Given the description of an element on the screen output the (x, y) to click on. 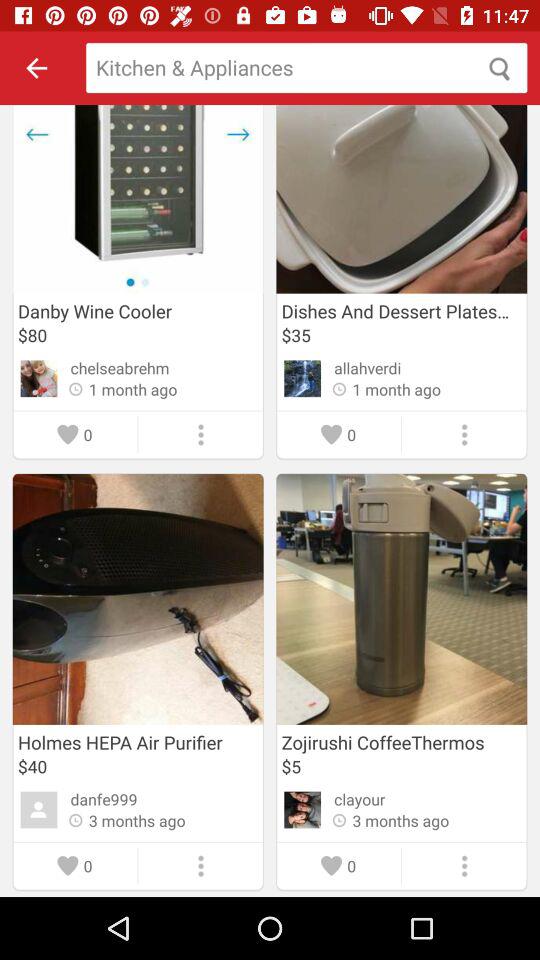
select the icon above 1 month ago item (367, 367)
